Given the description of an element on the screen output the (x, y) to click on. 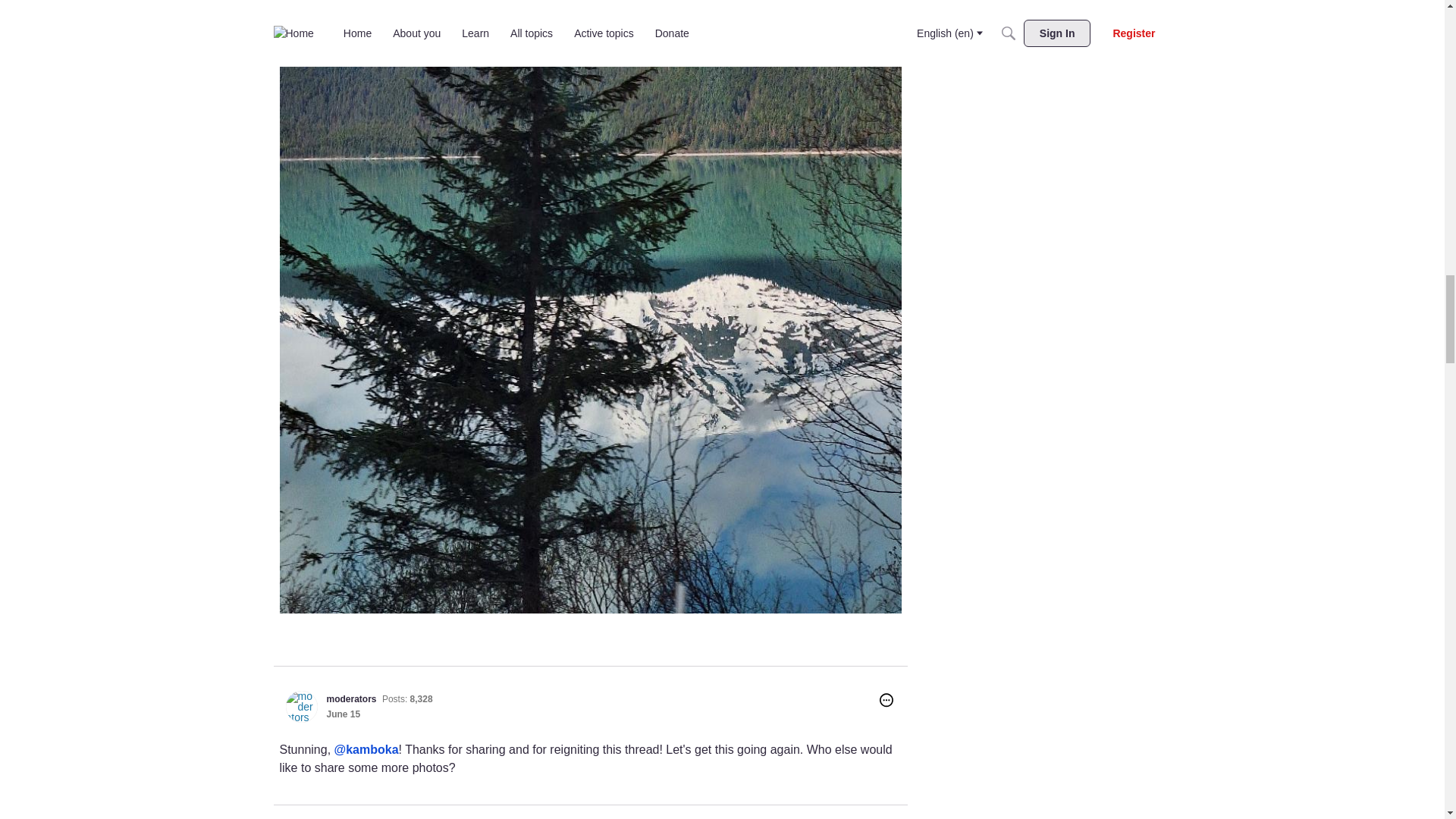
June 15, 2024 1:44PM (342, 714)
moderators (301, 706)
